Given the description of an element on the screen output the (x, y) to click on. 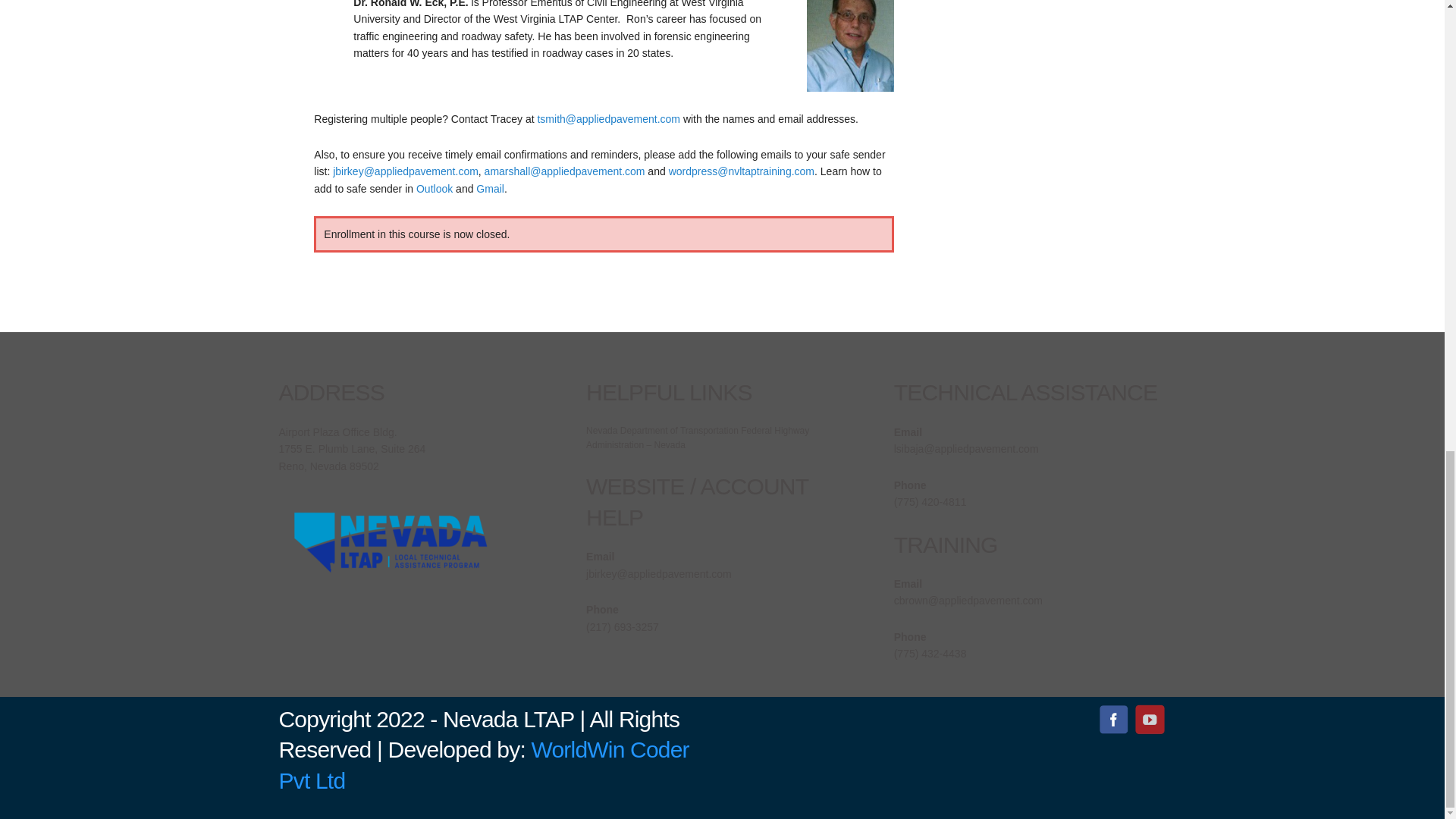
Gmail (489, 188)
Nevada Department of Transportation (662, 430)
Outlook (434, 188)
